Given the description of an element on the screen output the (x, y) to click on. 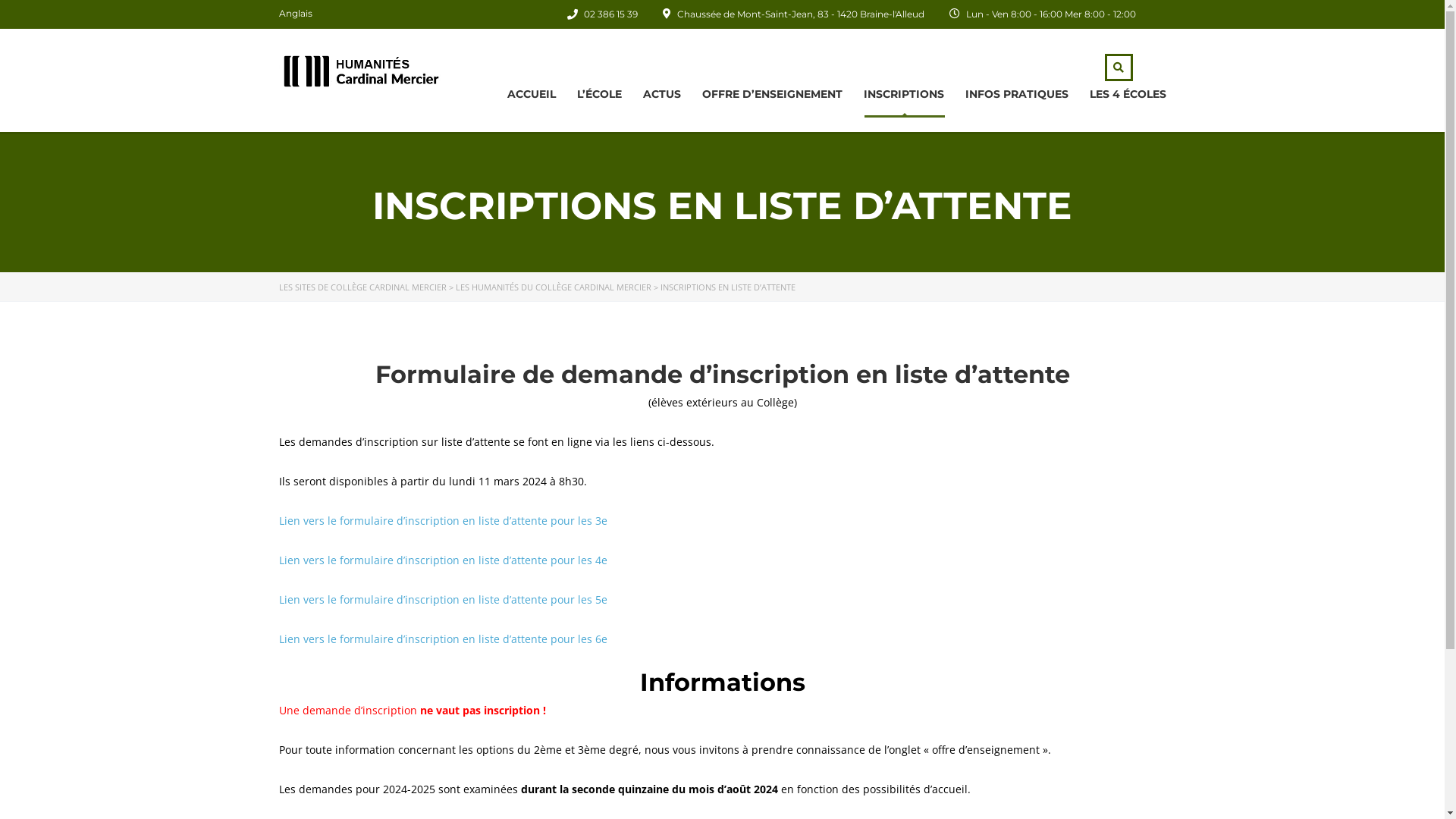
INSCRIPTIONS Element type: text (902, 93)
ACCUEIL Element type: text (530, 93)
ACTUS Element type: text (661, 93)
INFOS PRATIQUES Element type: text (1015, 93)
